Given the description of an element on the screen output the (x, y) to click on. 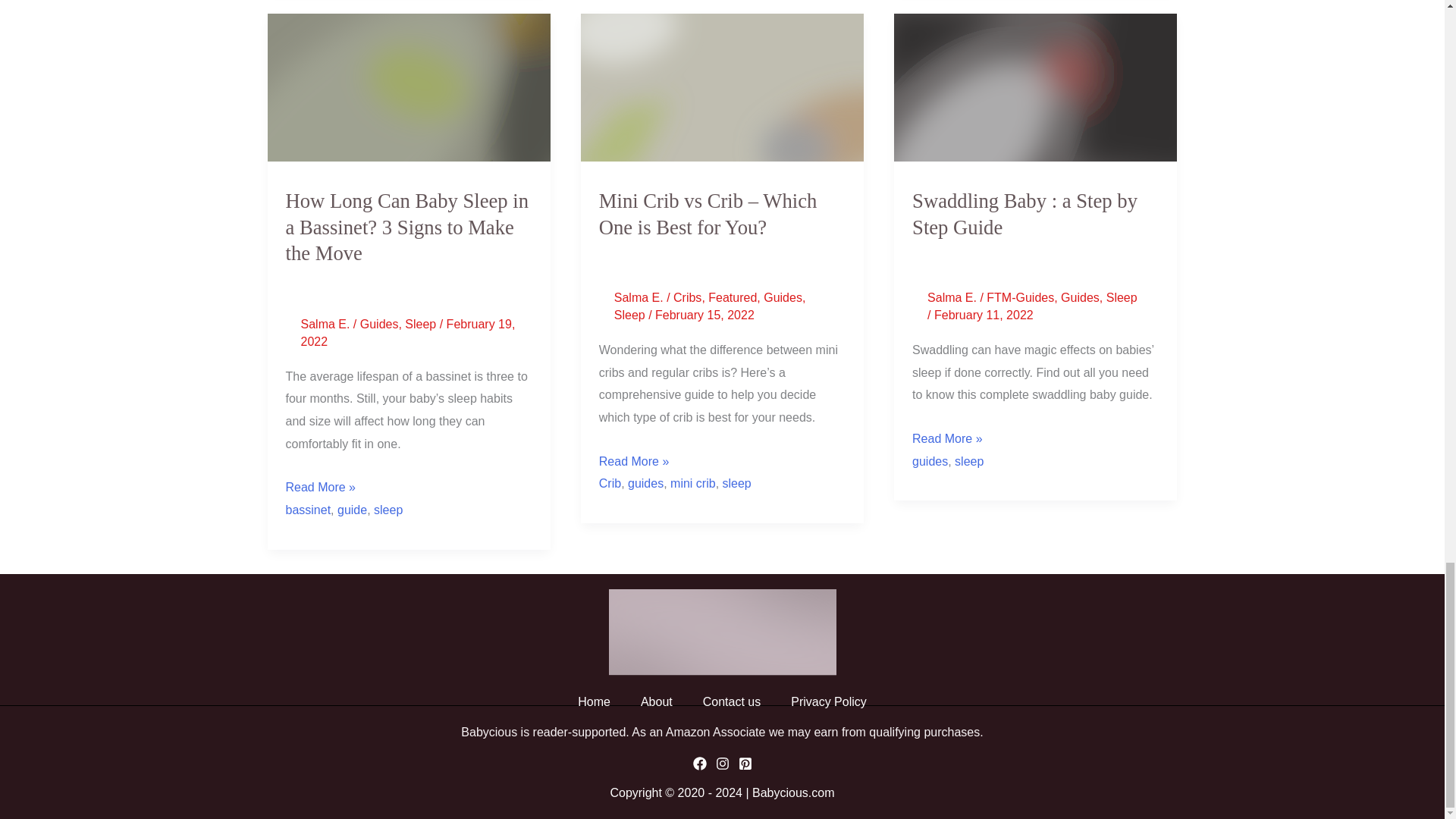
View all posts by Salma E. (953, 297)
View all posts by Salma E. (640, 297)
View all posts by Salma E. (325, 323)
